Given the description of an element on the screen output the (x, y) to click on. 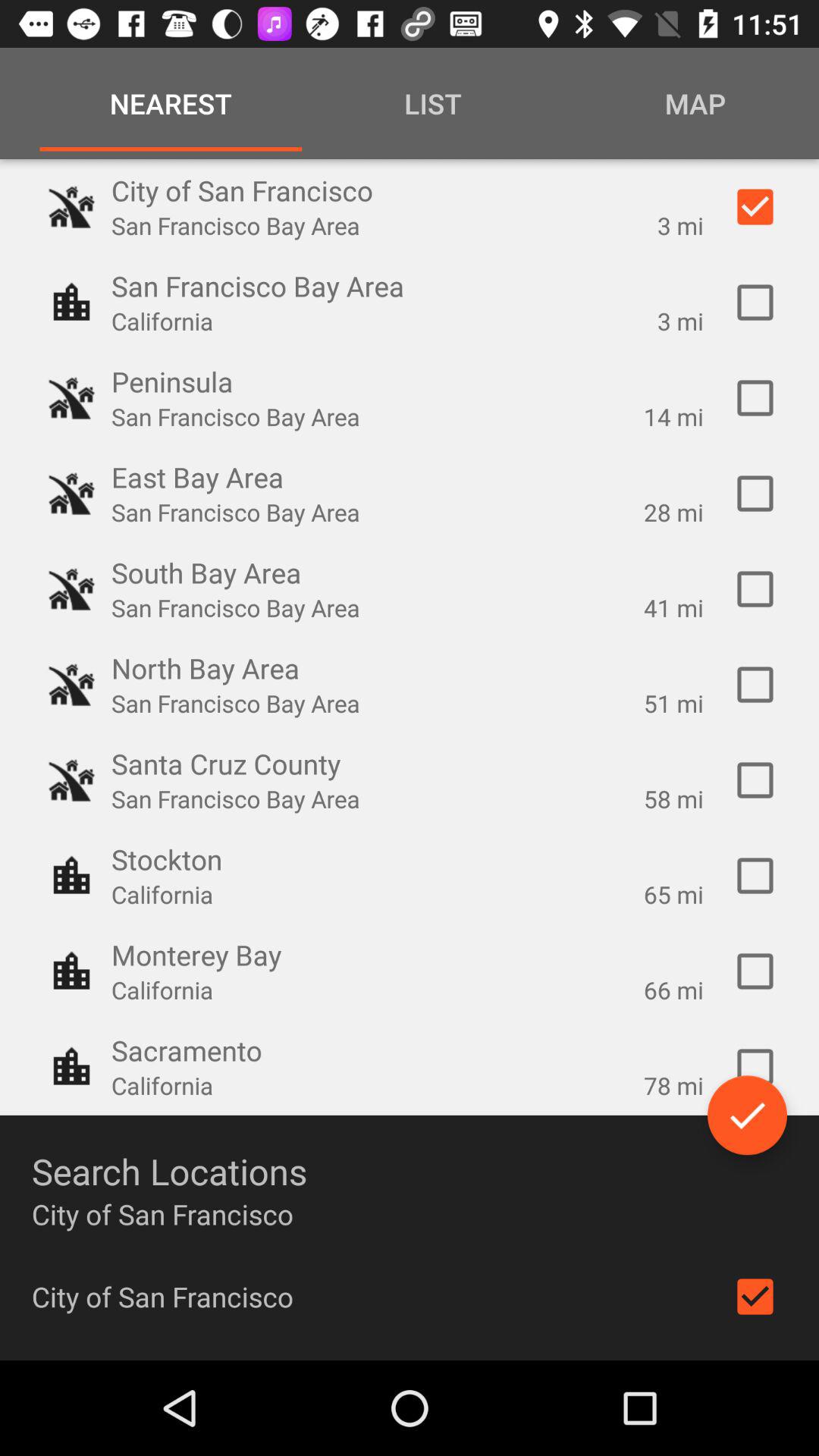
include location in search (755, 1296)
